Given the description of an element on the screen output the (x, y) to click on. 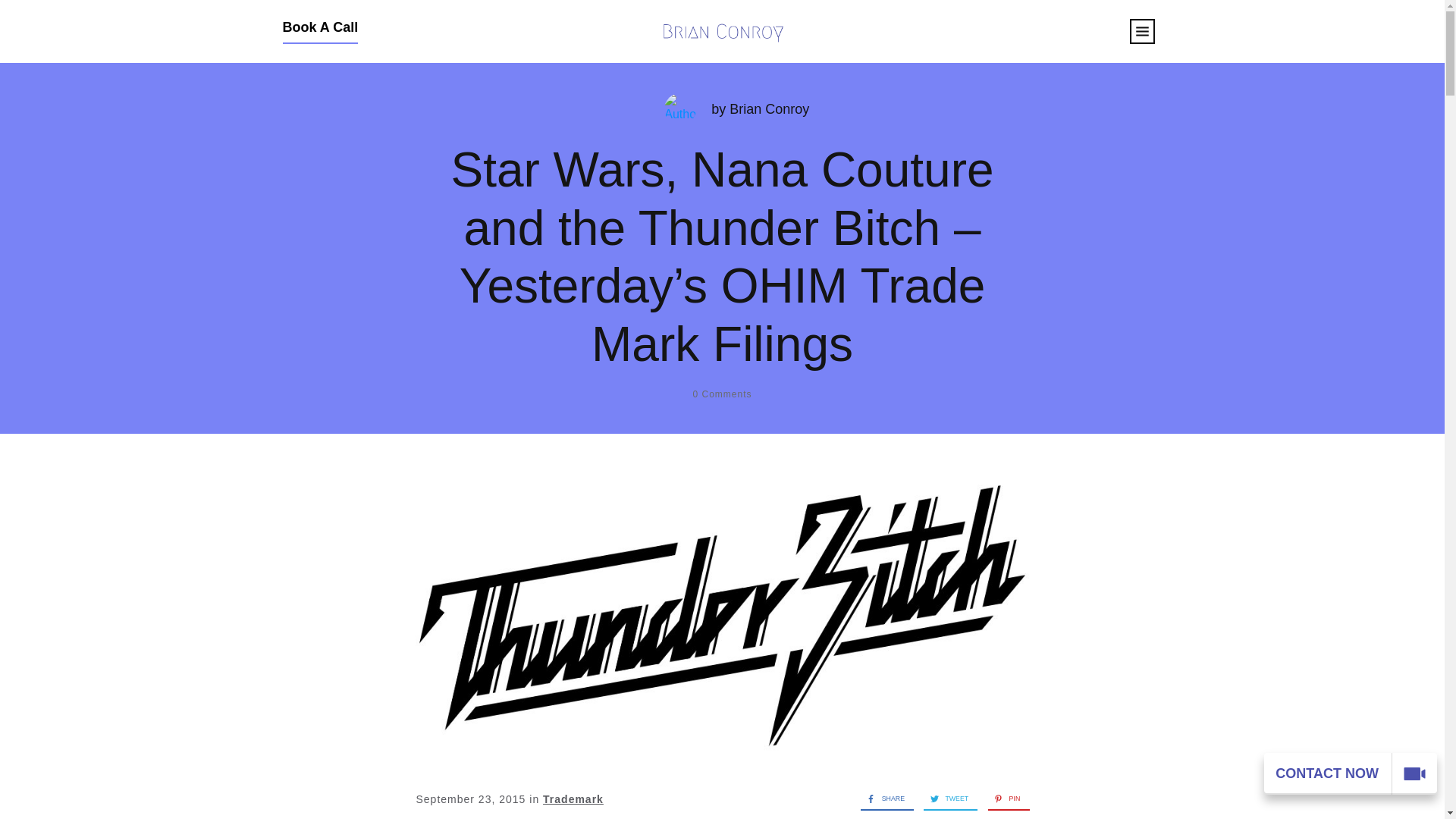
PIN (1004, 798)
SHARE (882, 798)
TWEET (945, 798)
Book A Call (320, 31)
Trademark (573, 799)
Brian Conroy (769, 109)
Trademark (573, 799)
CONTACT NOW (1350, 773)
CONTACT NOW (1414, 774)
